Given the description of an element on the screen output the (x, y) to click on. 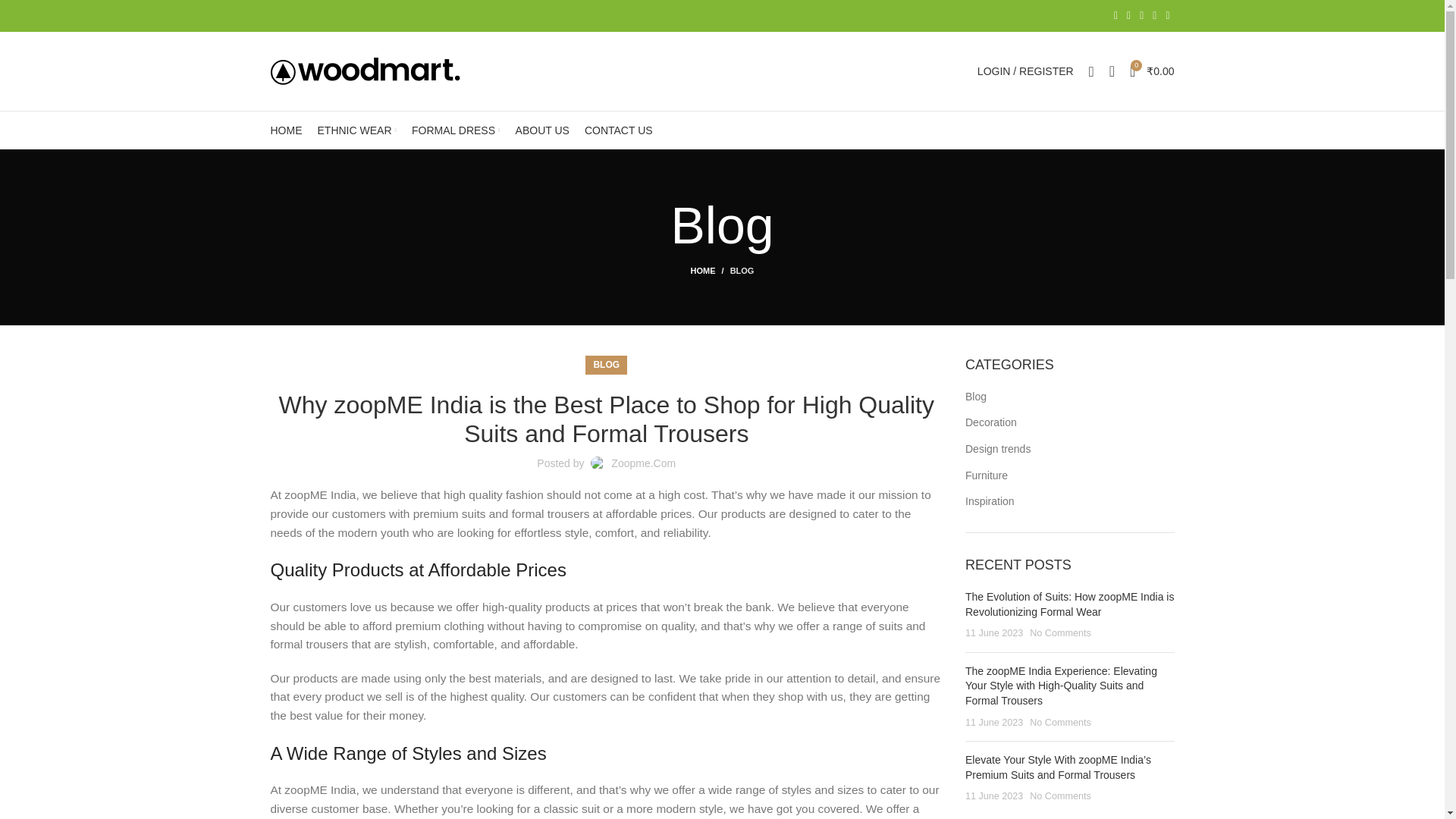
BLOG (606, 364)
BLOG (742, 270)
HOME (285, 130)
Shopping cart (1152, 71)
FORMAL DRESS (456, 130)
My account (1025, 71)
ETHNIC WEAR (356, 130)
Log in (948, 309)
HOME (710, 270)
ABOUT US (542, 130)
Zoopme.Com (643, 463)
CONTACT US (618, 130)
